Given the description of an element on the screen output the (x, y) to click on. 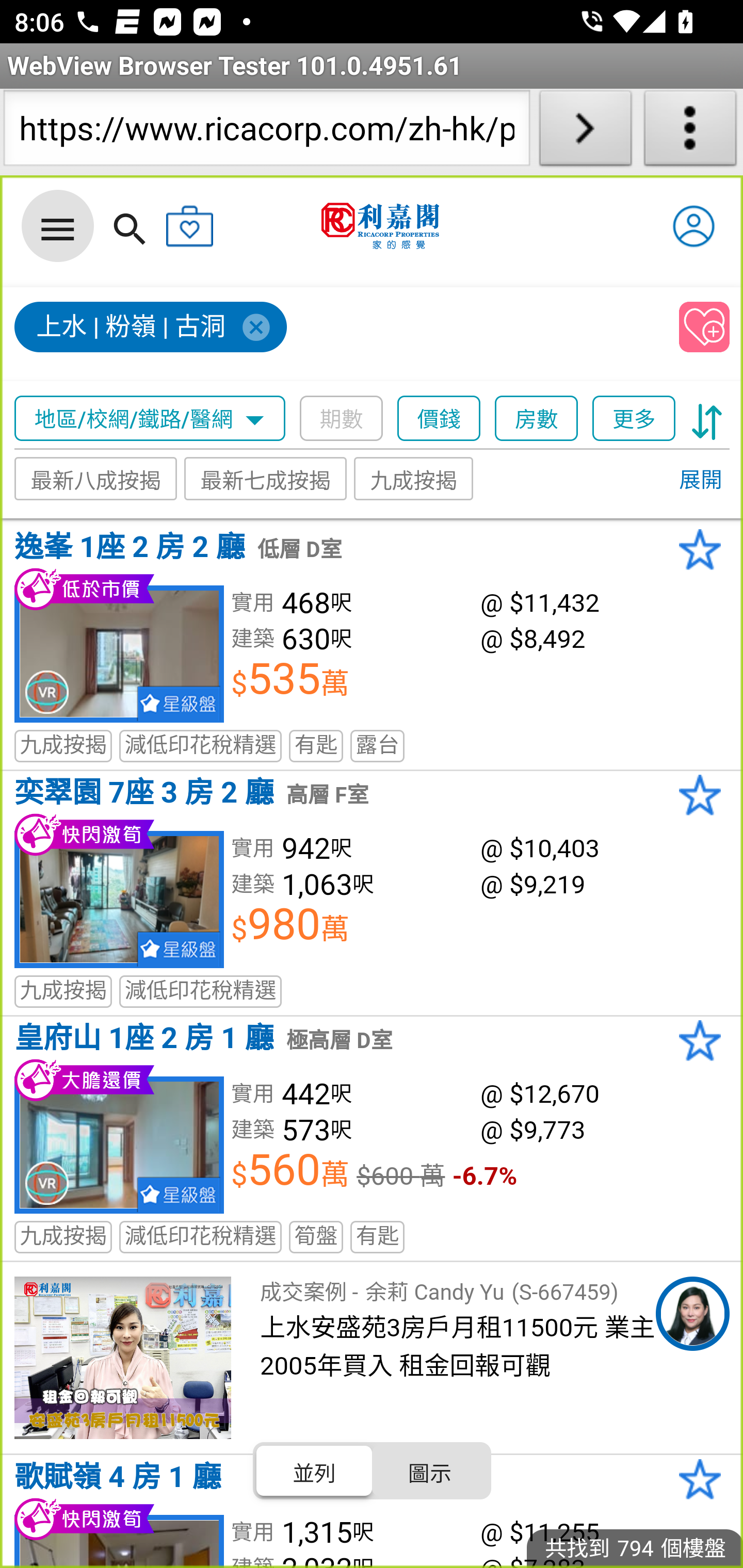
Load URL (585, 132)
About WebView (690, 132)
上水 | 粉嶺 | 古洞 (151, 327)
save (705, 327)
地區/校網/鐵路/醫網 (150, 418)
期數 (341, 418)
價錢 (439, 418)
房數 (536, 418)
更多 (634, 418)
sort (706, 418)
最新八成按揭 (96, 478)
最新七成按揭 (266, 478)
九成按揭 (413, 478)
展開 (699, 481)
Candy Yu (692, 1313)
並列 (314, 1470)
圖示 (429, 1470)
